Given the description of an element on the screen output the (x, y) to click on. 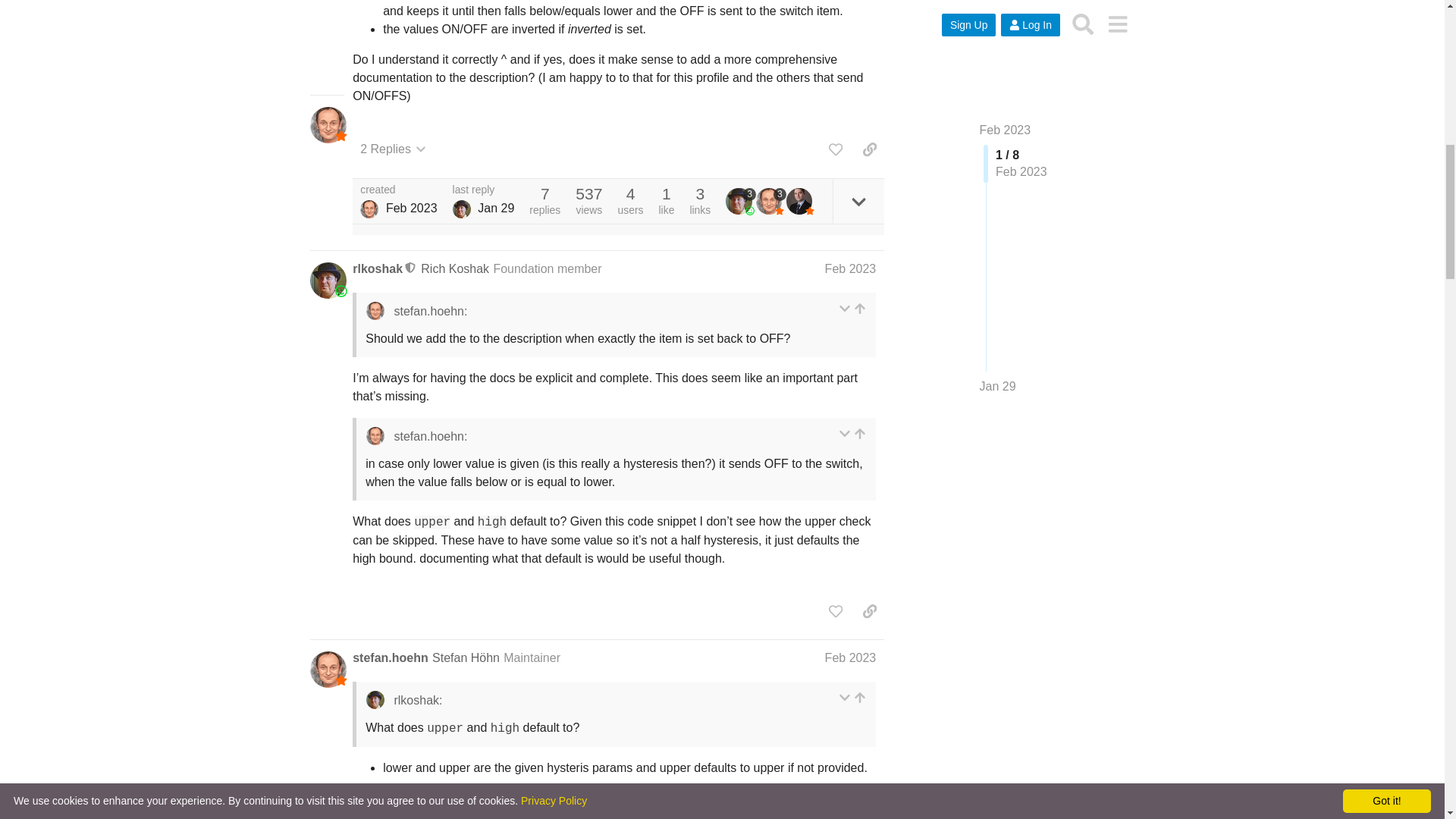
like this post (835, 149)
2 Replies (392, 148)
Rich Koshak (461, 208)
Feb 5, 2023 6:15 pm (411, 207)
expand topic details (857, 201)
copy a link to this post to clipboard (869, 149)
